Given the description of an element on the screen output the (x, y) to click on. 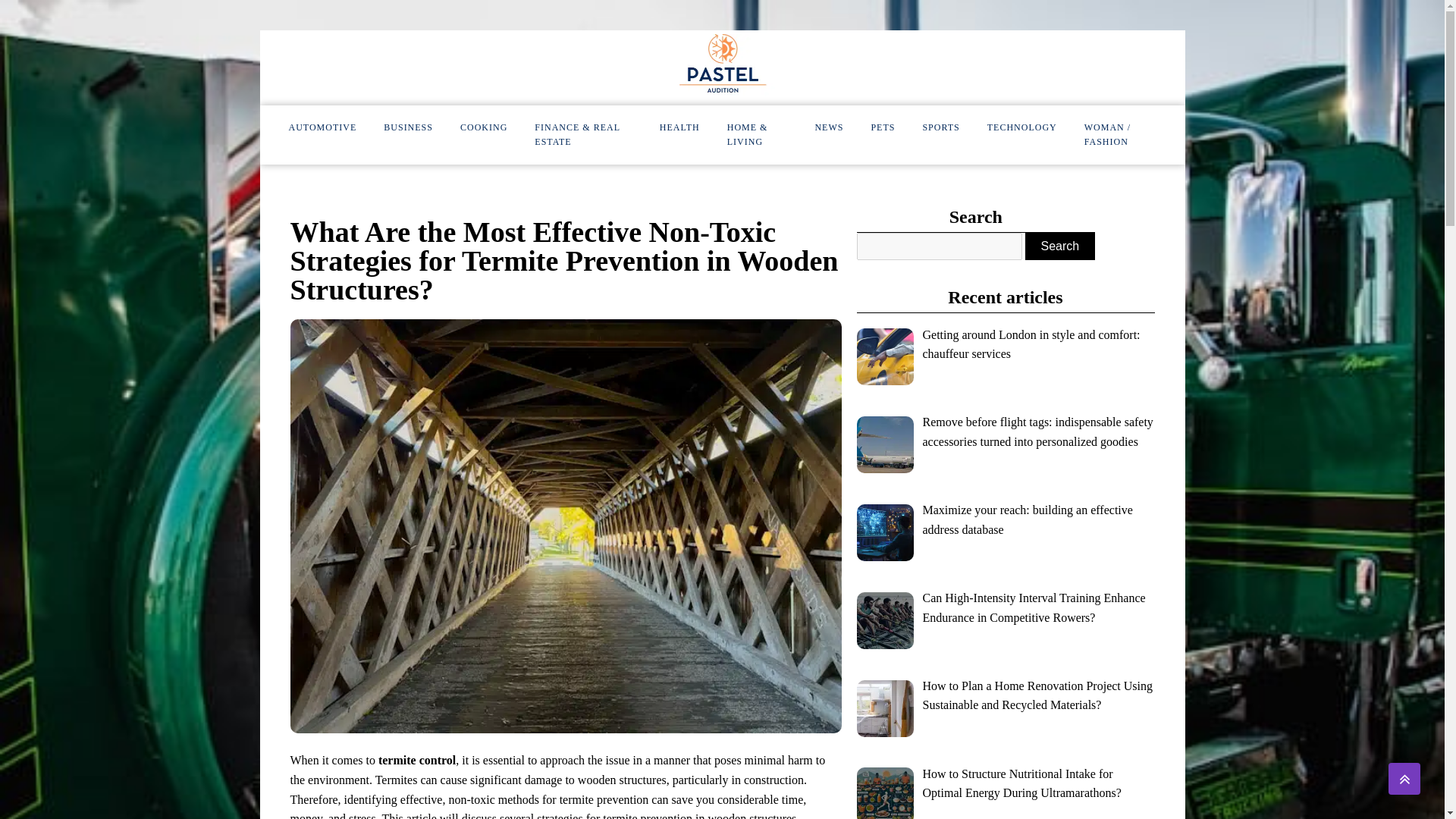
AUTOMOTIVE (322, 127)
BUSINESS (407, 127)
HEALTH (679, 127)
PETS (882, 127)
SPORTS (940, 127)
NEWS (828, 127)
COOKING (483, 127)
